Given the description of an element on the screen output the (x, y) to click on. 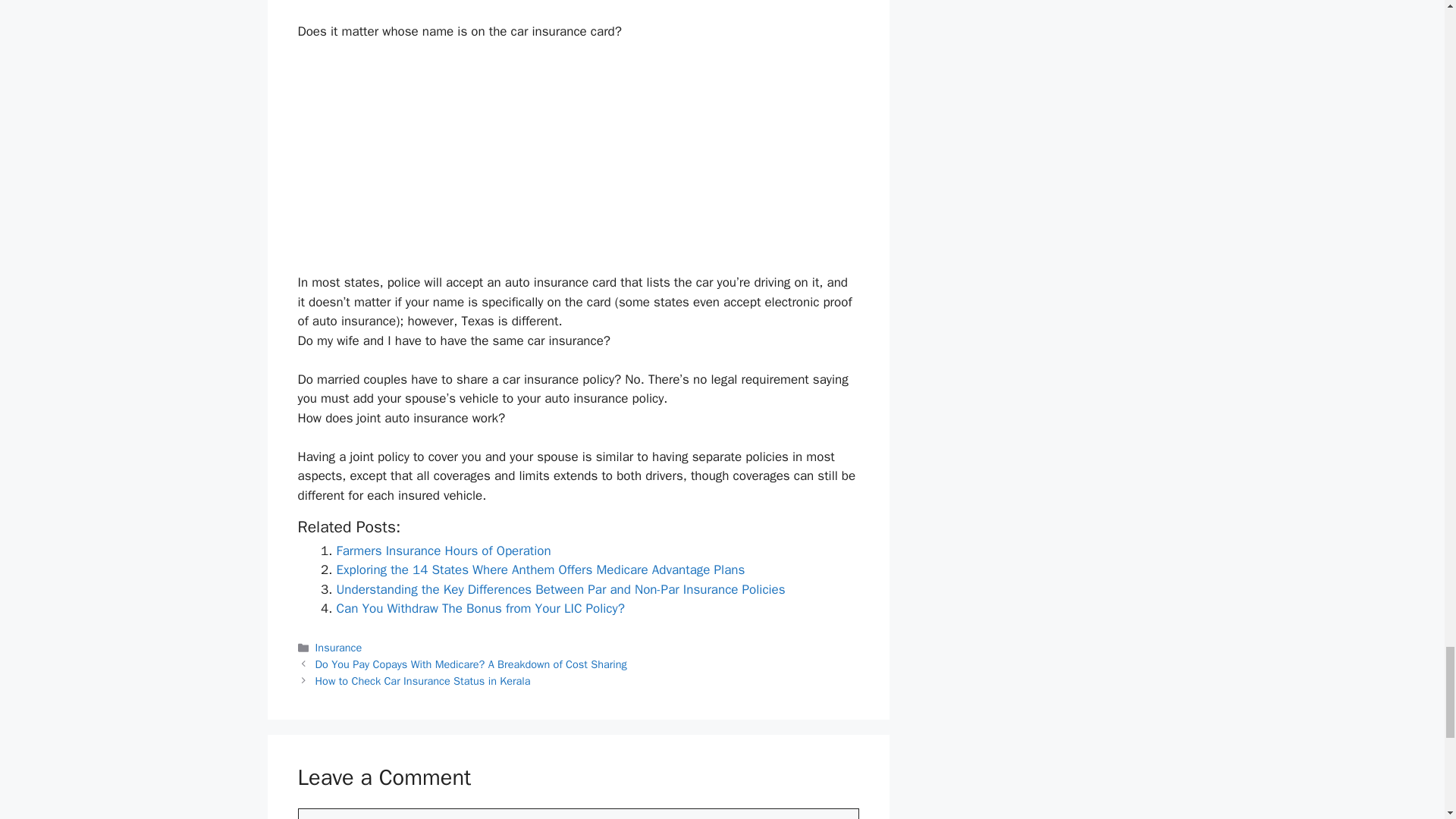
Do You Pay Copays With Medicare? A Breakdown of Cost Sharing (471, 663)
Farmers Insurance Hours of Operation (443, 550)
Previous (471, 663)
Next (423, 680)
Farmers Insurance Hours of Operation (443, 550)
Can You Withdraw The Bonus from Your LIC Policy? (480, 608)
Can You Withdraw The Bonus from Your LIC Policy? (480, 608)
